Given the description of an element on the screen output the (x, y) to click on. 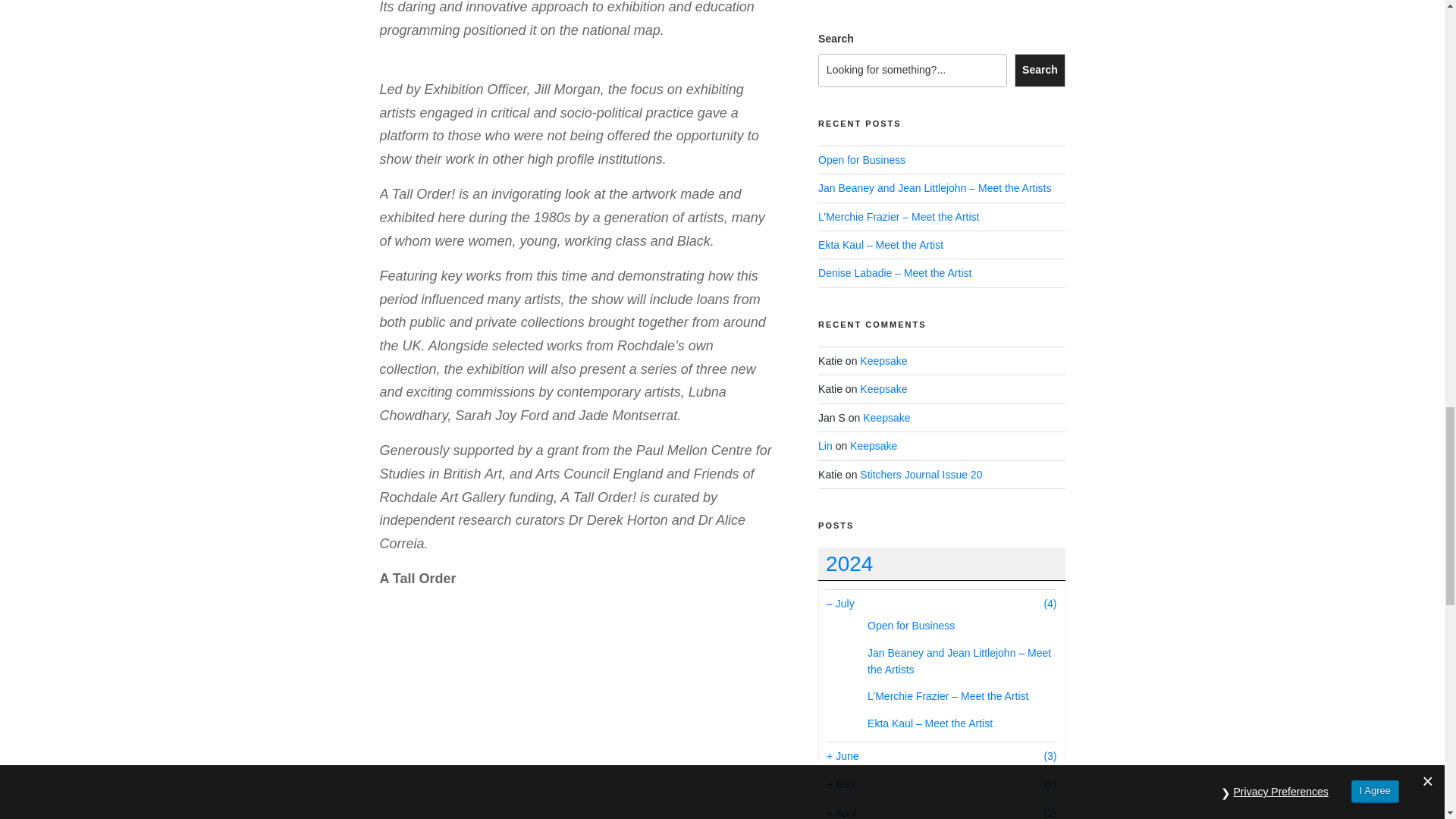
Lin (825, 445)
Keepsake (886, 417)
Keepsake (883, 360)
Open for Business (861, 159)
Stitchers Journal Issue 20 (920, 474)
Search (1039, 70)
Keepsake (873, 445)
Keepsake (883, 388)
Open for Business (911, 625)
2024 (941, 563)
